Given the description of an element on the screen output the (x, y) to click on. 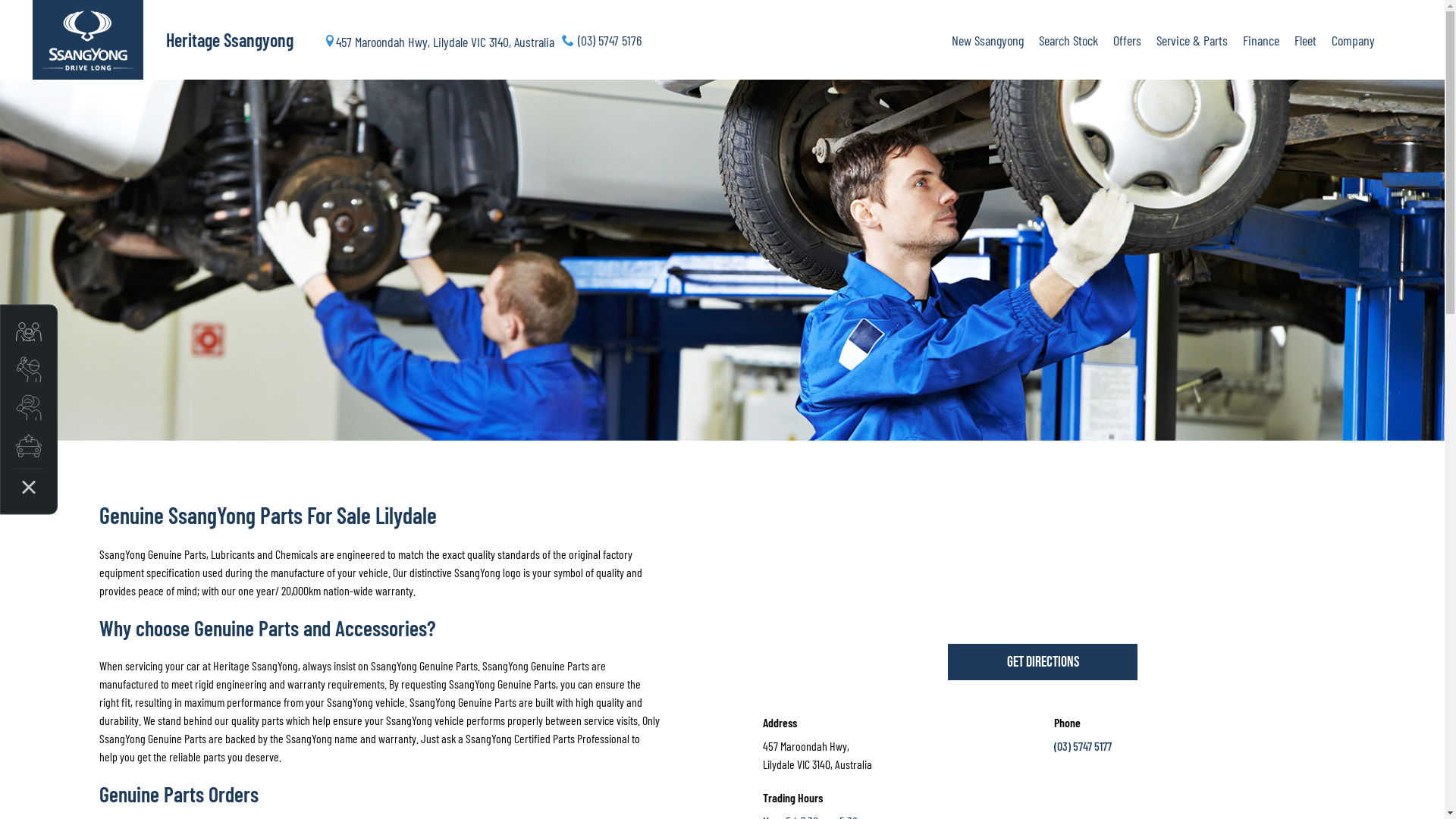
Finance Element type: text (1260, 39)
Company Element type: text (1349, 39)
Search Stock Element type: text (1068, 39)
457 Maroondah Hwy, Lilydale VIC 3140, Australia Element type: text (438, 39)
Service & Parts Element type: text (1191, 39)
(03) 5747 5177 Element type: text (1082, 745)
Offers Element type: text (1126, 39)
GET DIRECTIONS Element type: text (1042, 661)
Fleet Element type: text (1304, 39)
(03) 5747 5176 Element type: text (600, 39)
Heritage Ssangyong Element type: text (240, 39)
New Ssangyong Element type: text (986, 39)
